Given the description of an element on the screen output the (x, y) to click on. 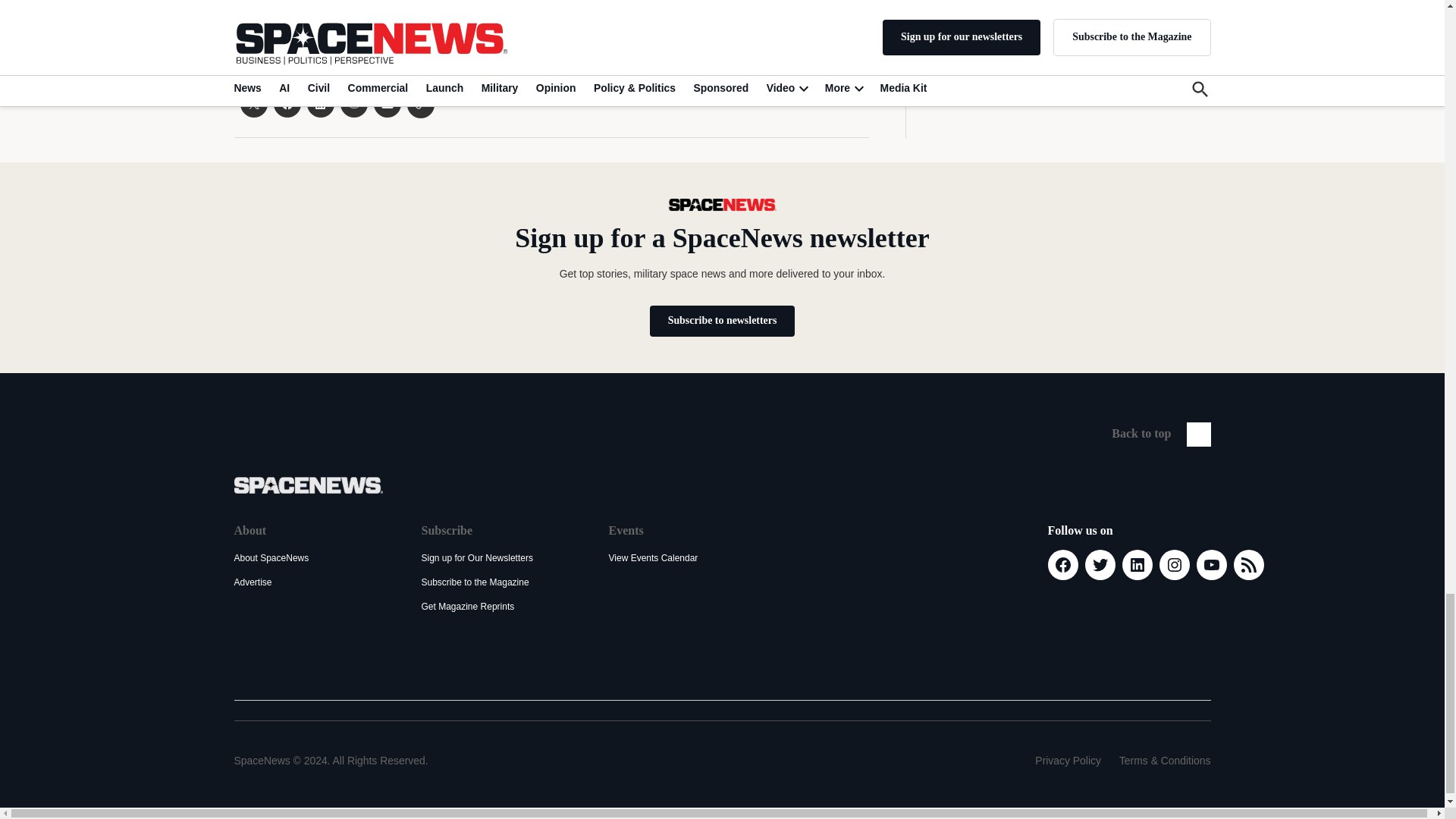
Click to share on Facebook (286, 103)
Click to share on LinkedIn (319, 103)
Click to email a link to a friend (386, 103)
Click to share on Reddit (352, 103)
Click to share on Clipboard (419, 103)
Click to share on X (253, 103)
